Given the description of an element on the screen output the (x, y) to click on. 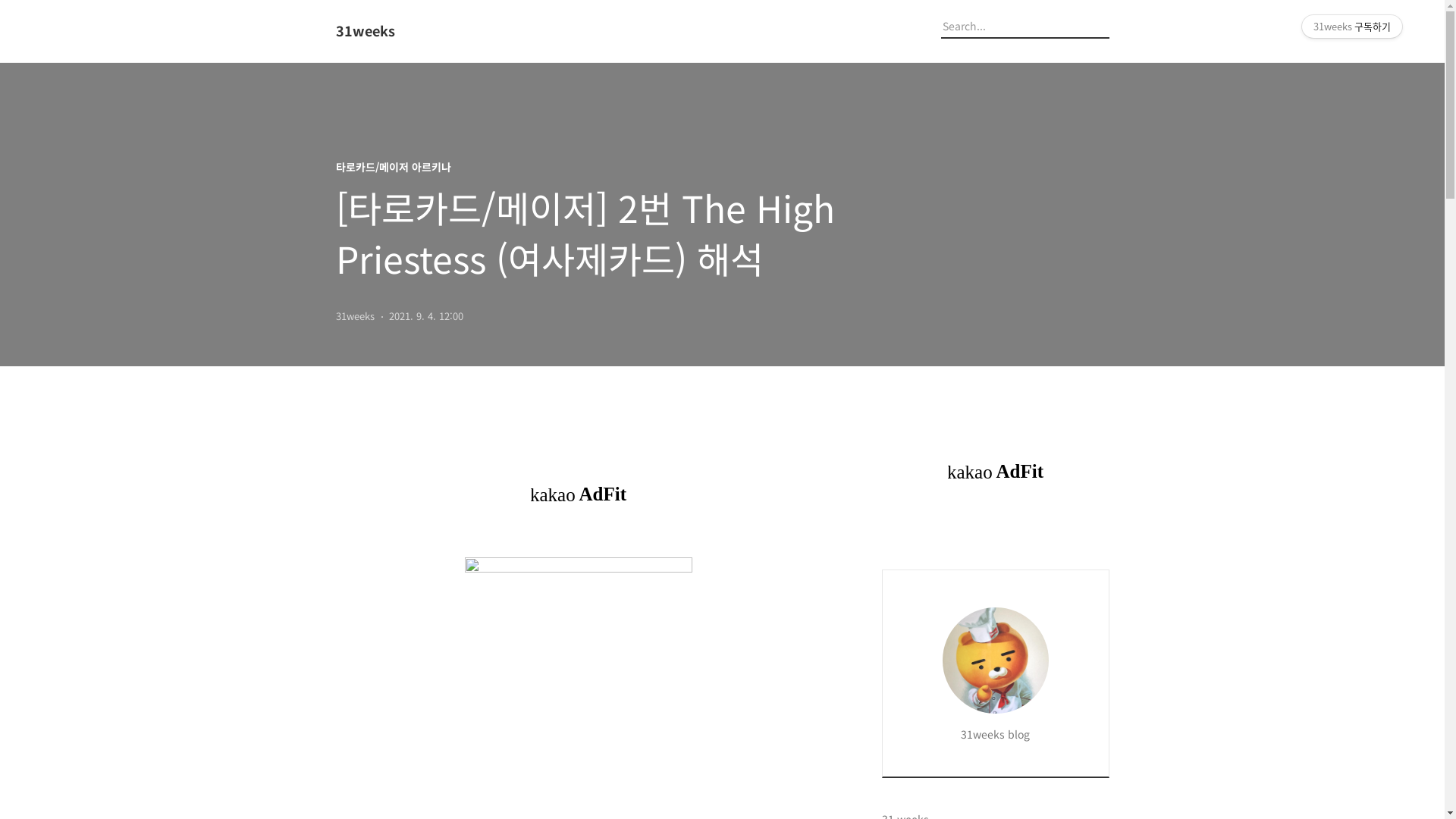
31weeks Element type: text (418, 30)
